Given the description of an element on the screen output the (x, y) to click on. 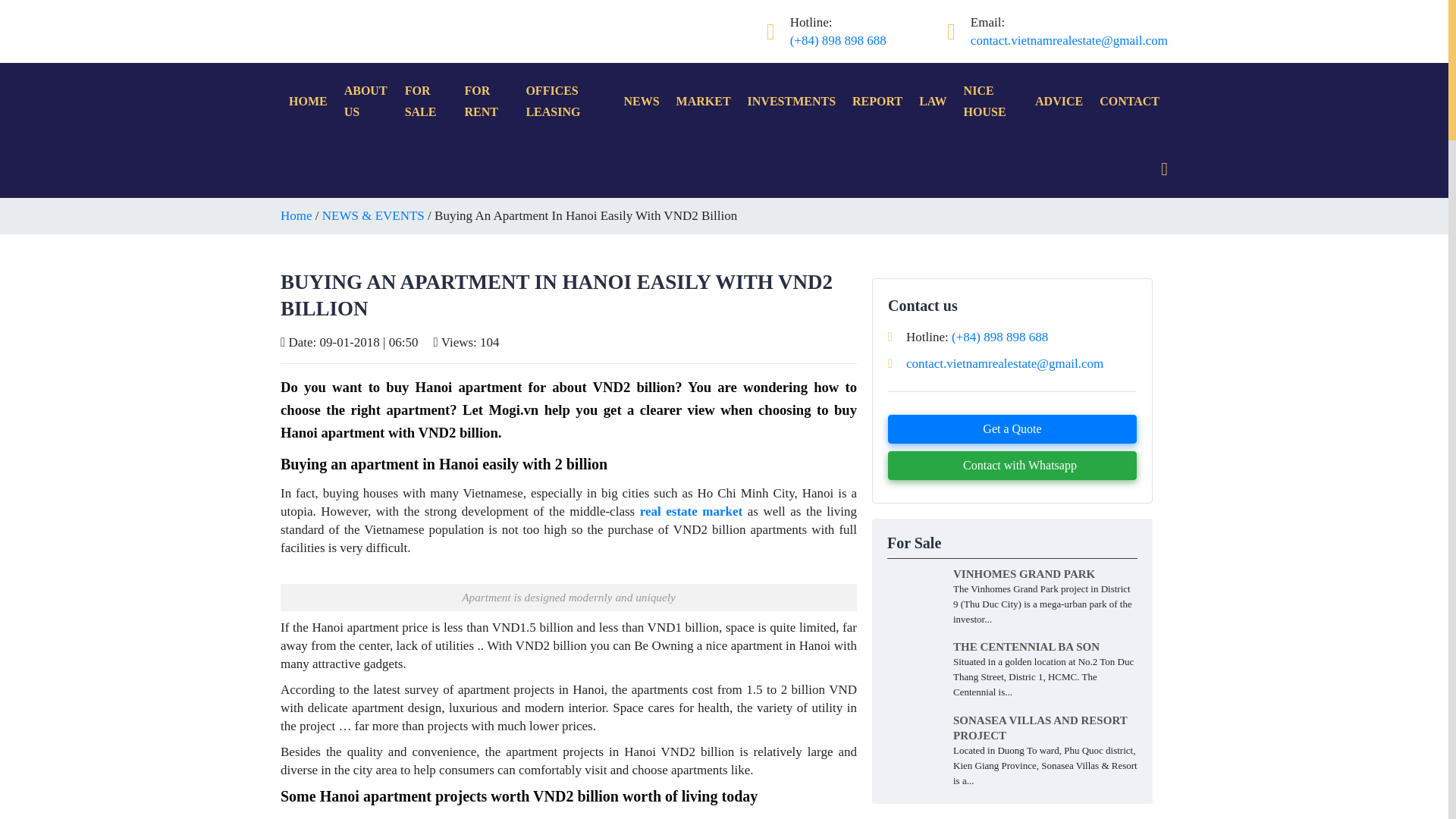
Vietnam Real Estate (339, 16)
FOR SALE (426, 101)
ABOUT US (365, 101)
HOME (307, 101)
